Given the description of an element on the screen output the (x, y) to click on. 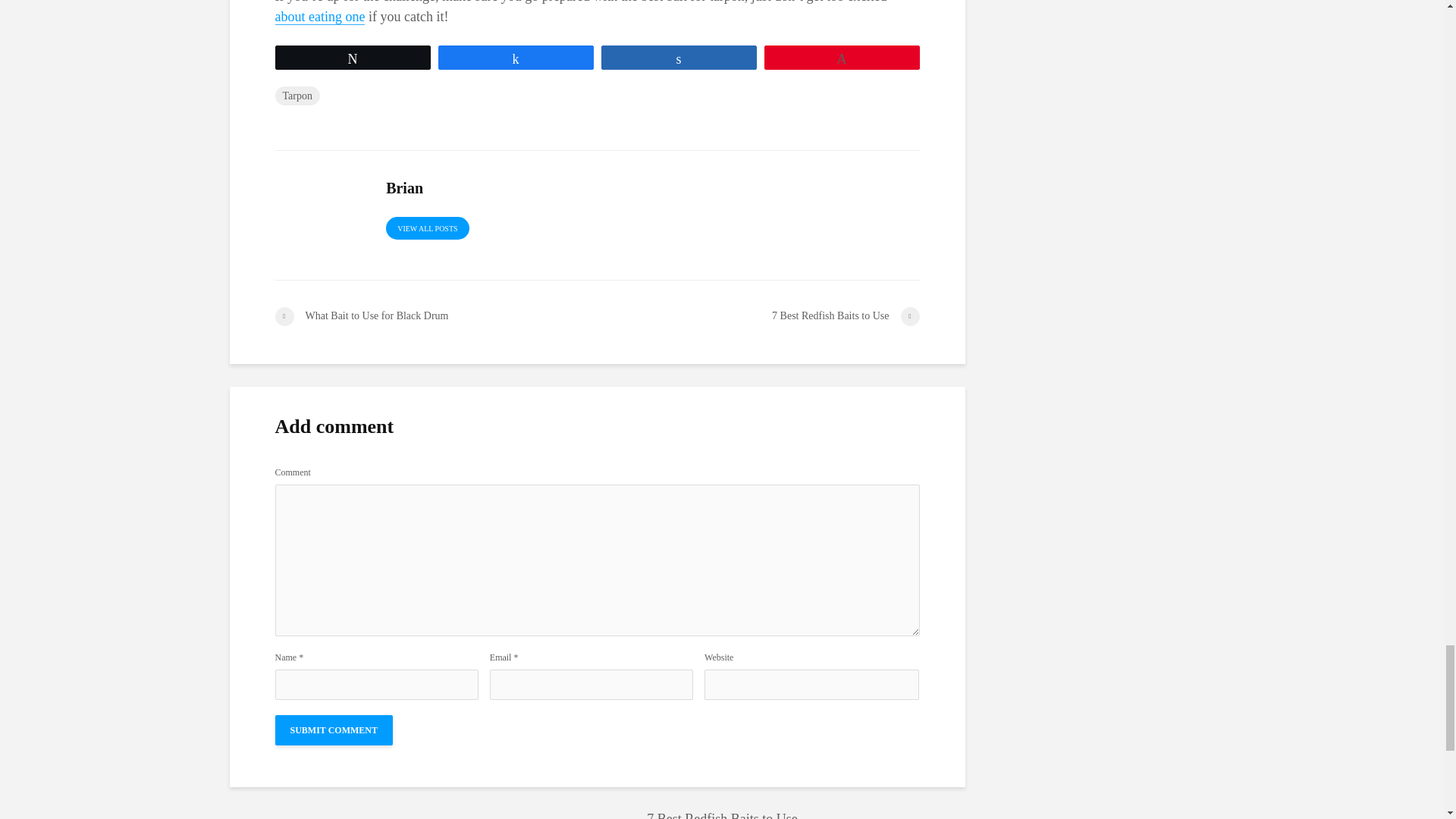
Submit Comment (333, 729)
